Given the description of an element on the screen output the (x, y) to click on. 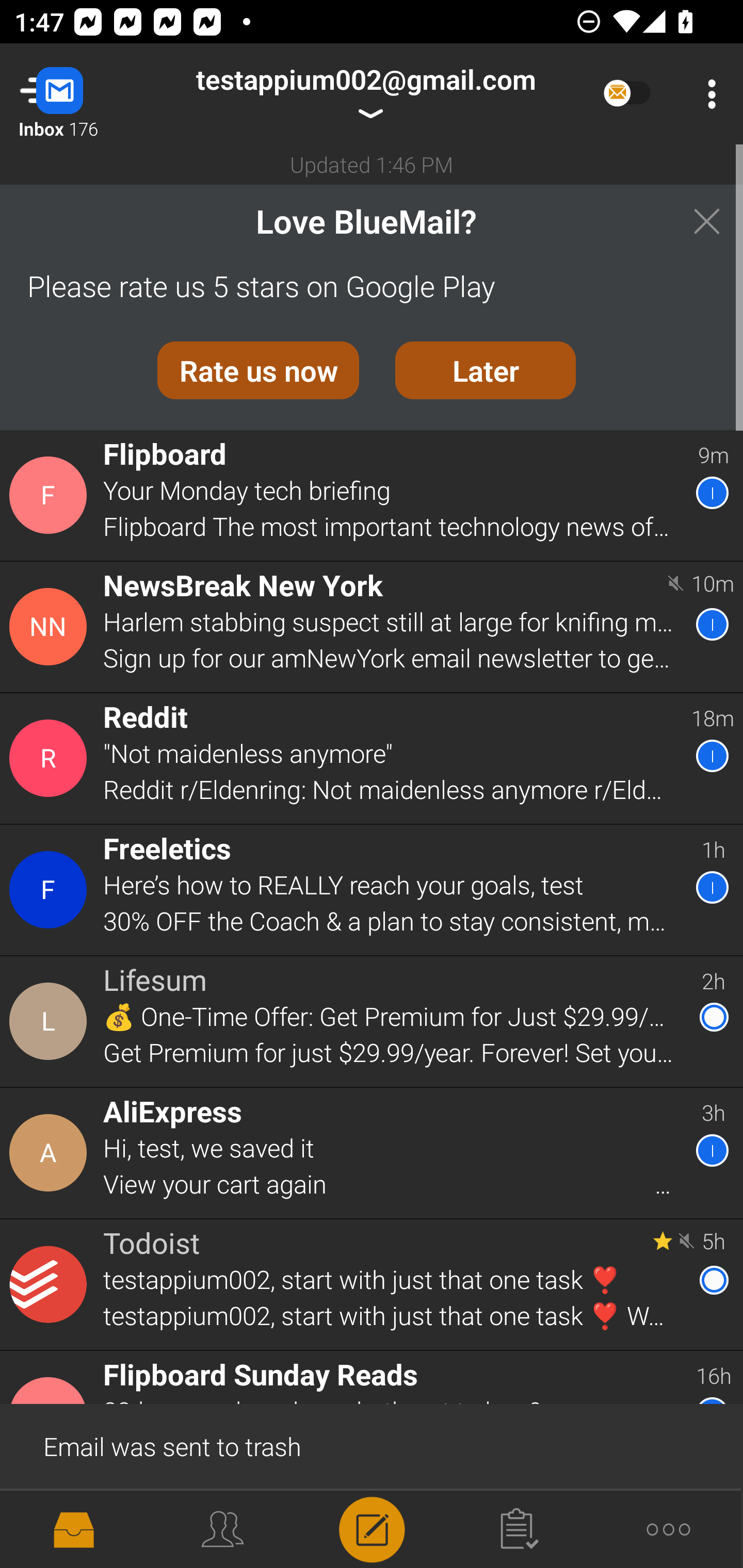
Navigate up (81, 93)
testappium002@gmail.com (365, 93)
More Options (706, 93)
Updated 1:46 PM (371, 164)
Rate us now (257, 370)
Later (485, 370)
Contact Details (50, 495)
Contact Details (50, 626)
Contact Details (50, 758)
Contact Details (50, 889)
Contact Details (50, 1021)
Contact Details (50, 1153)
Contact Details (50, 1284)
Email was sent to trash (371, 1445)
Compose (371, 1528)
